Given the description of an element on the screen output the (x, y) to click on. 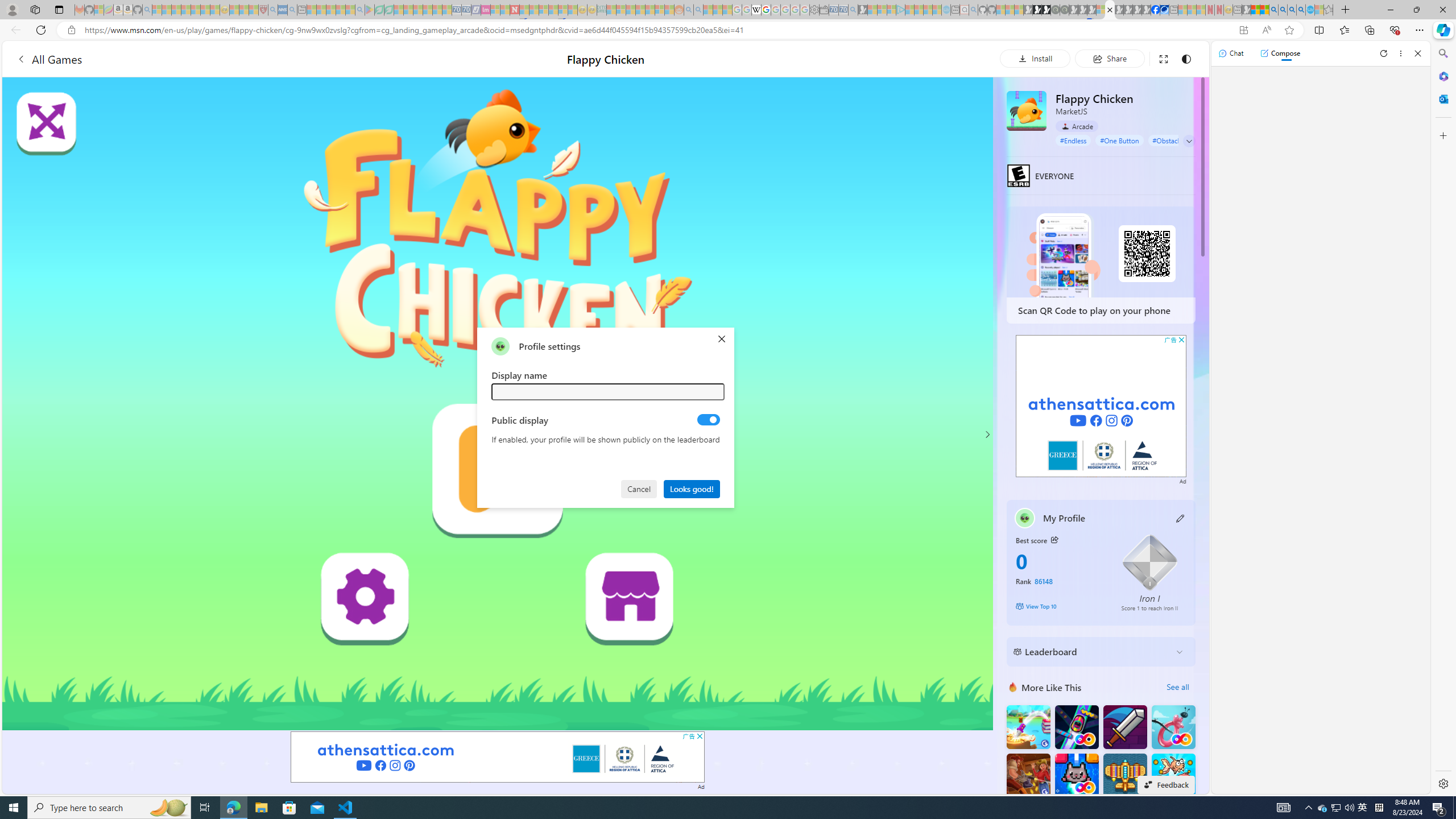
All Games (49, 58)
AutomationID: canvas (497, 403)
See all (1177, 687)
Flappy Chicken (1026, 110)
All Games (212, 58)
Kitten Force FRVR (1076, 775)
